Given the description of an element on the screen output the (x, y) to click on. 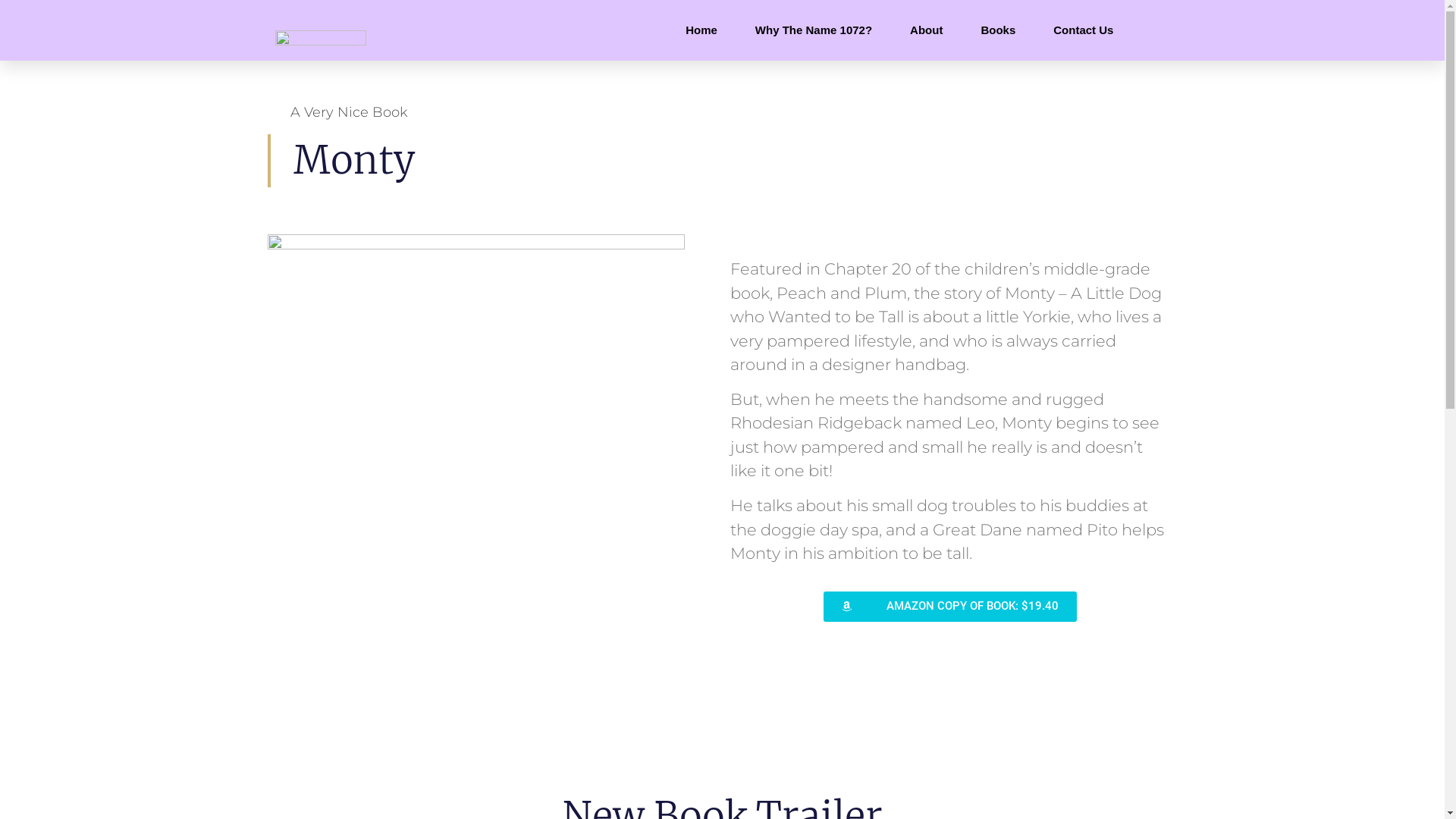
Home Element type: text (701, 30)
Contact Us Element type: text (1083, 30)
AMAZON COPY OF BOOK: $19.40 Element type: text (949, 606)
Books Element type: text (997, 30)
Why The Name 1072? Element type: text (813, 30)
About Element type: text (926, 30)
